Given the description of an element on the screen output the (x, y) to click on. 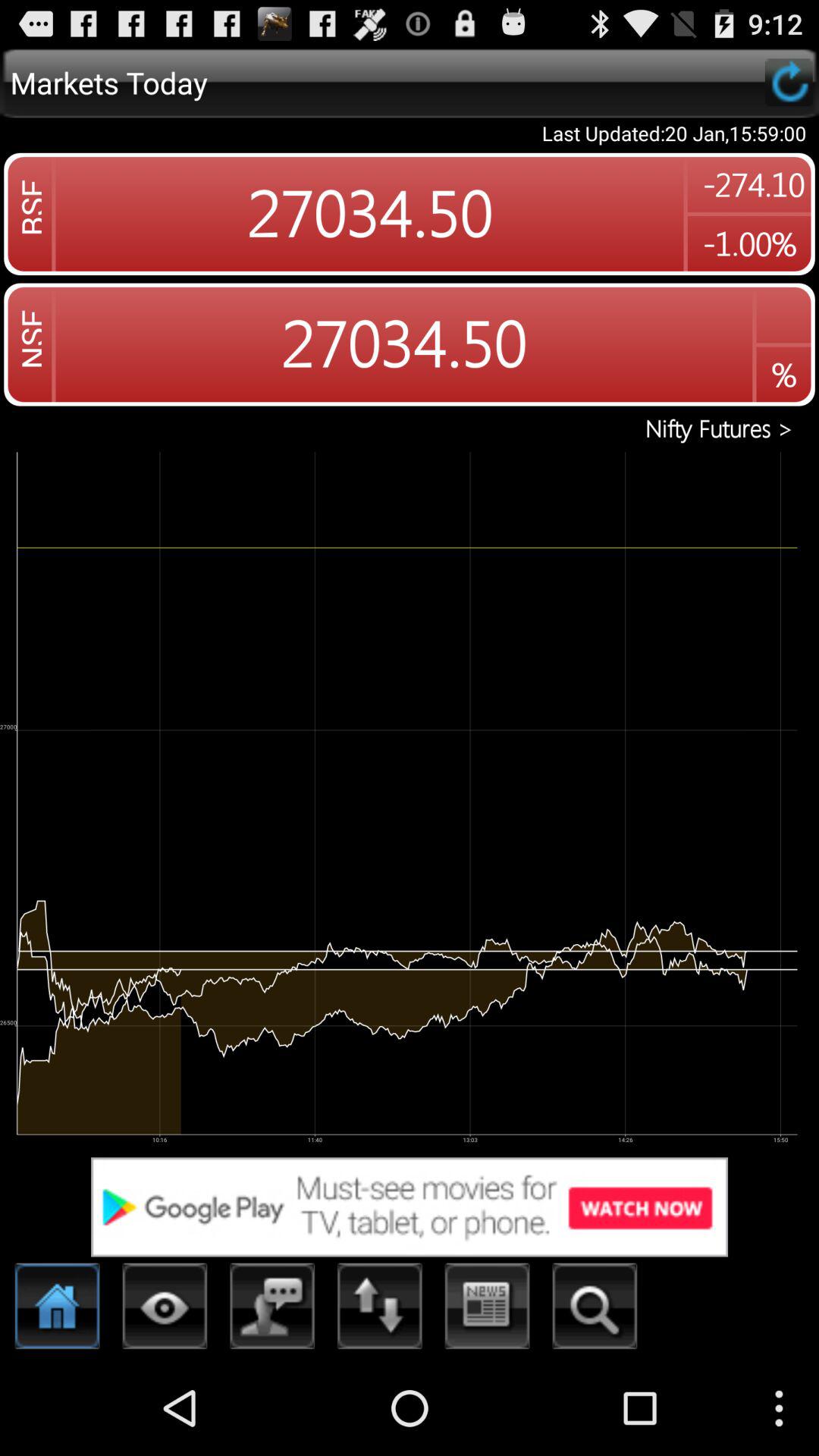
reload the page (788, 82)
